Given the description of an element on the screen output the (x, y) to click on. 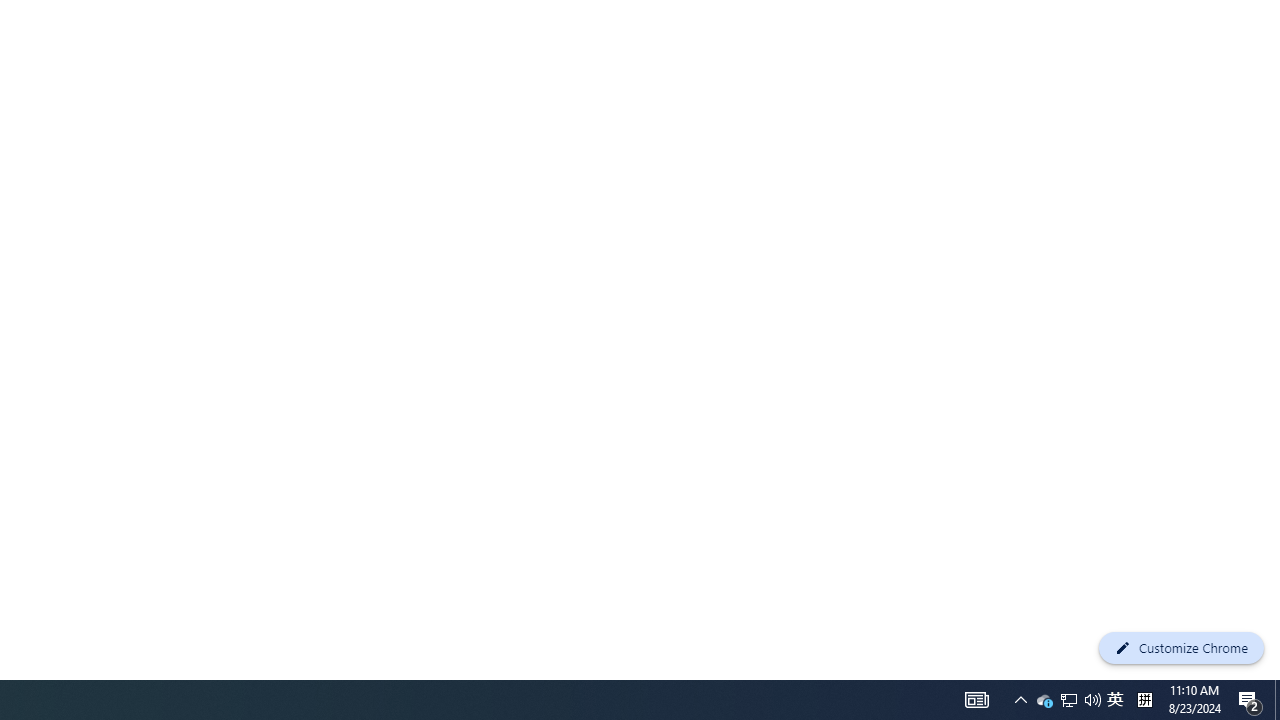
Customize Chrome (1181, 647)
